Given the description of an element on the screen output the (x, y) to click on. 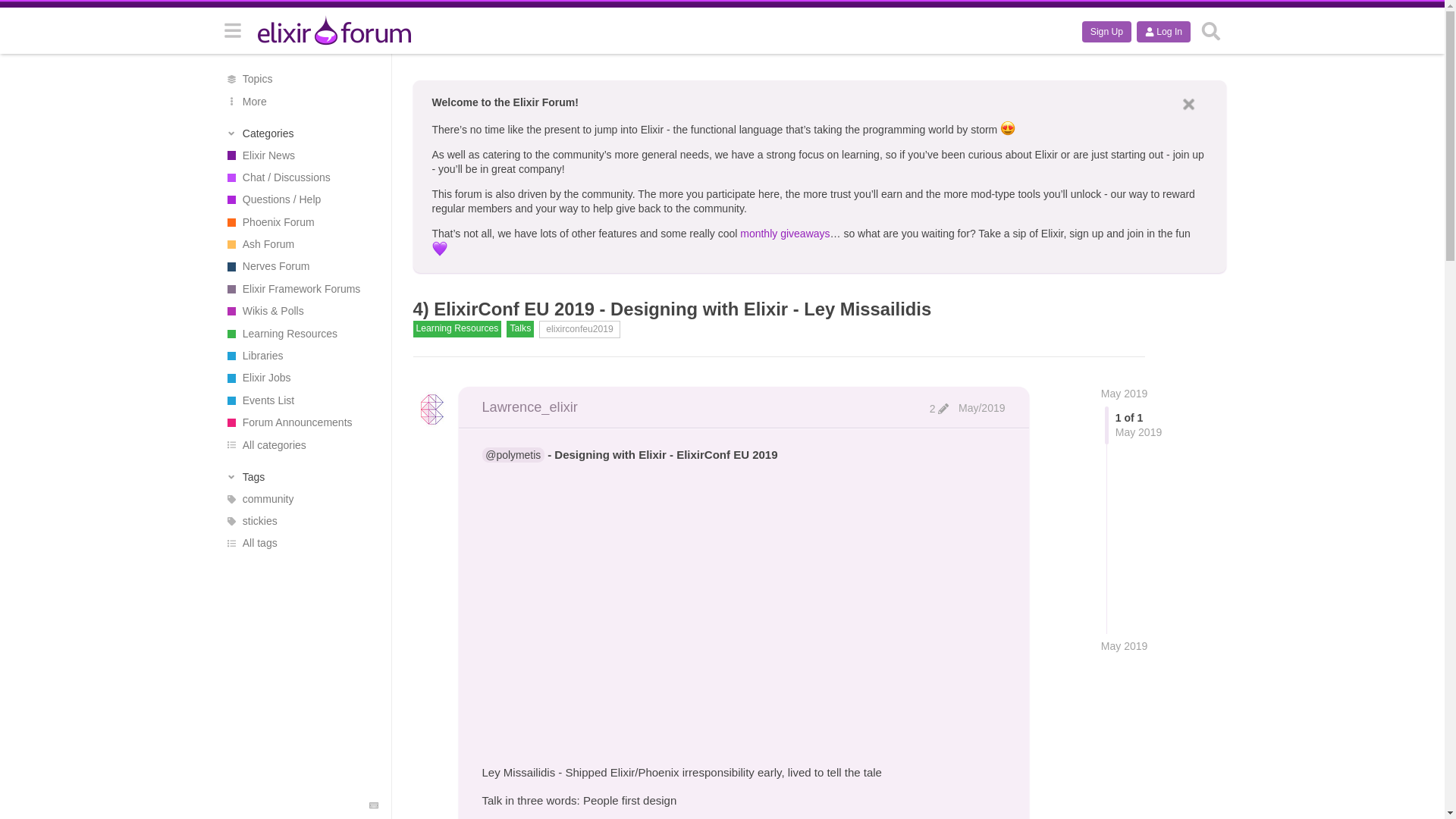
Ash Framework Forum (300, 244)
stickies (300, 521)
Official Elixir News (300, 155)
List of Elixir books, videos, educational material etc (300, 332)
elixirconfeu2019 (579, 329)
Elixir Jobs section (300, 377)
May 2019 (1123, 646)
Talks (520, 329)
Wikis and Polls (300, 311)
Events List (300, 400)
May 2019 (1123, 393)
Elixir News (300, 155)
Nerves Project Forum (300, 266)
All categories (300, 444)
Please read all announcements (300, 422)
